Given the description of an element on the screen output the (x, y) to click on. 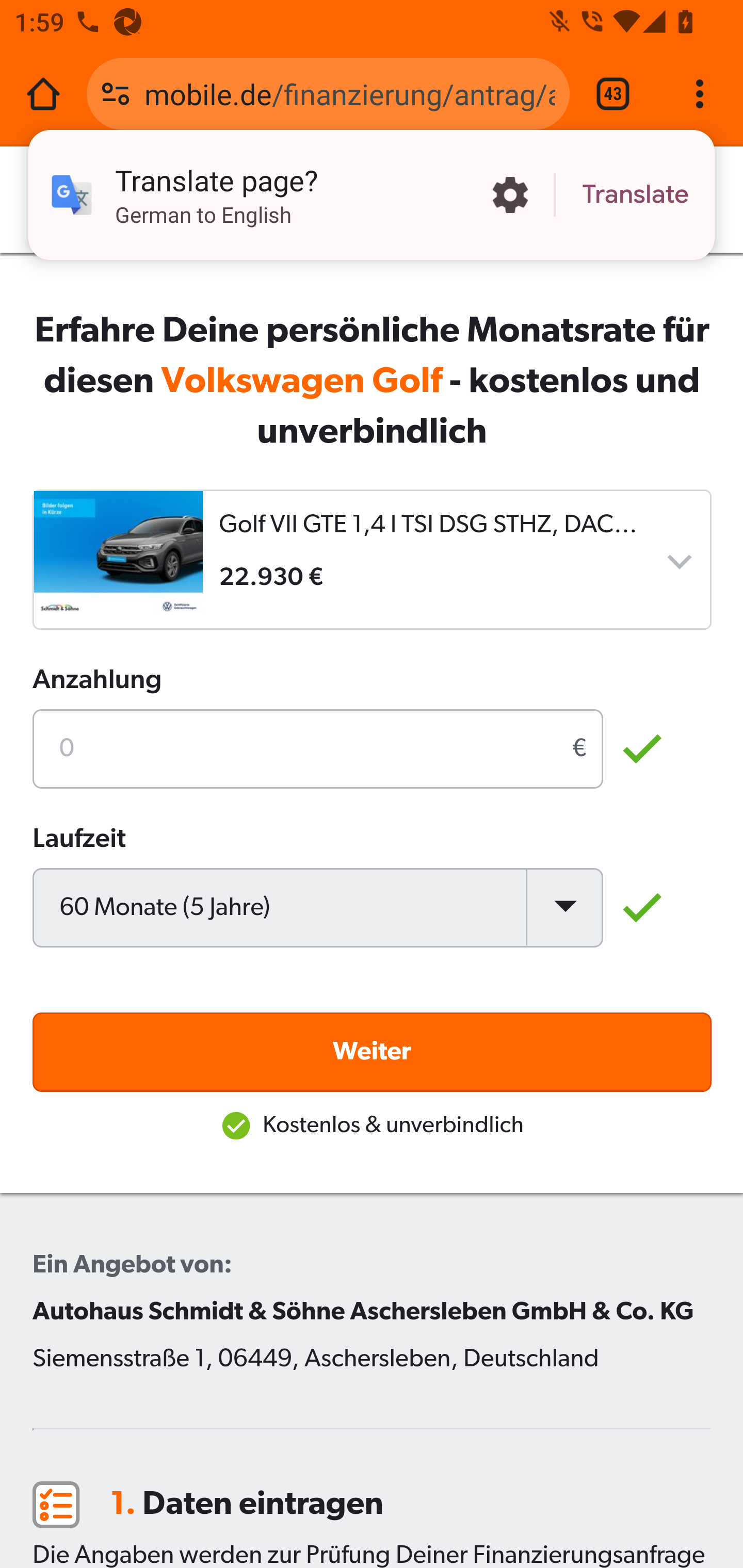
Open the home page (43, 93)
Connection is secure (115, 93)
Switch or close tabs (612, 93)
Customize and control Google Chrome (699, 93)
Translate (634, 195)
More options in the Translate page? (509, 195)
60 Monate (5 Jahre) (317, 907)
Weiter (372, 1051)
